Given the description of an element on the screen output the (x, y) to click on. 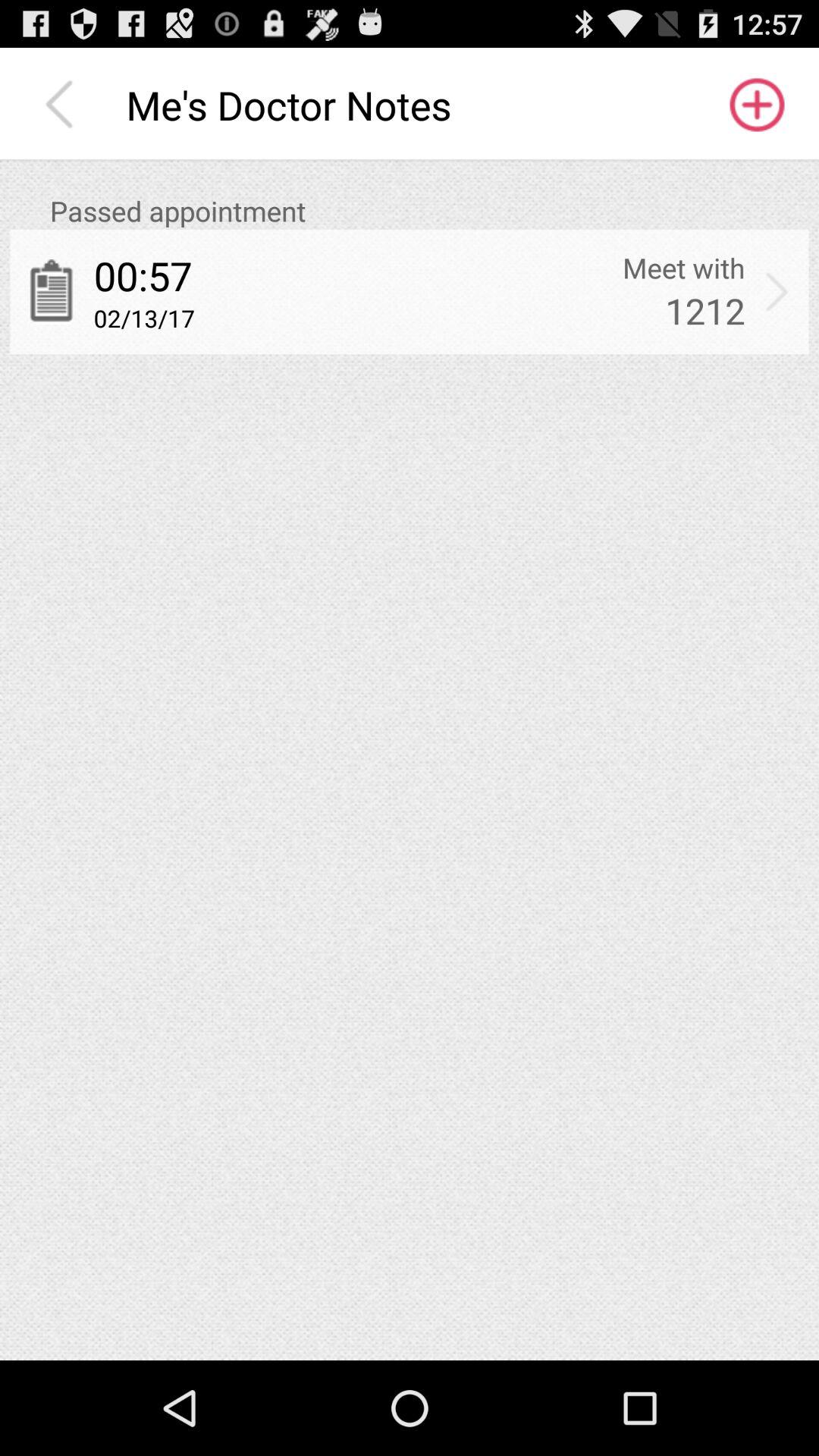
click 1212 (705, 310)
